Given the description of an element on the screen output the (x, y) to click on. 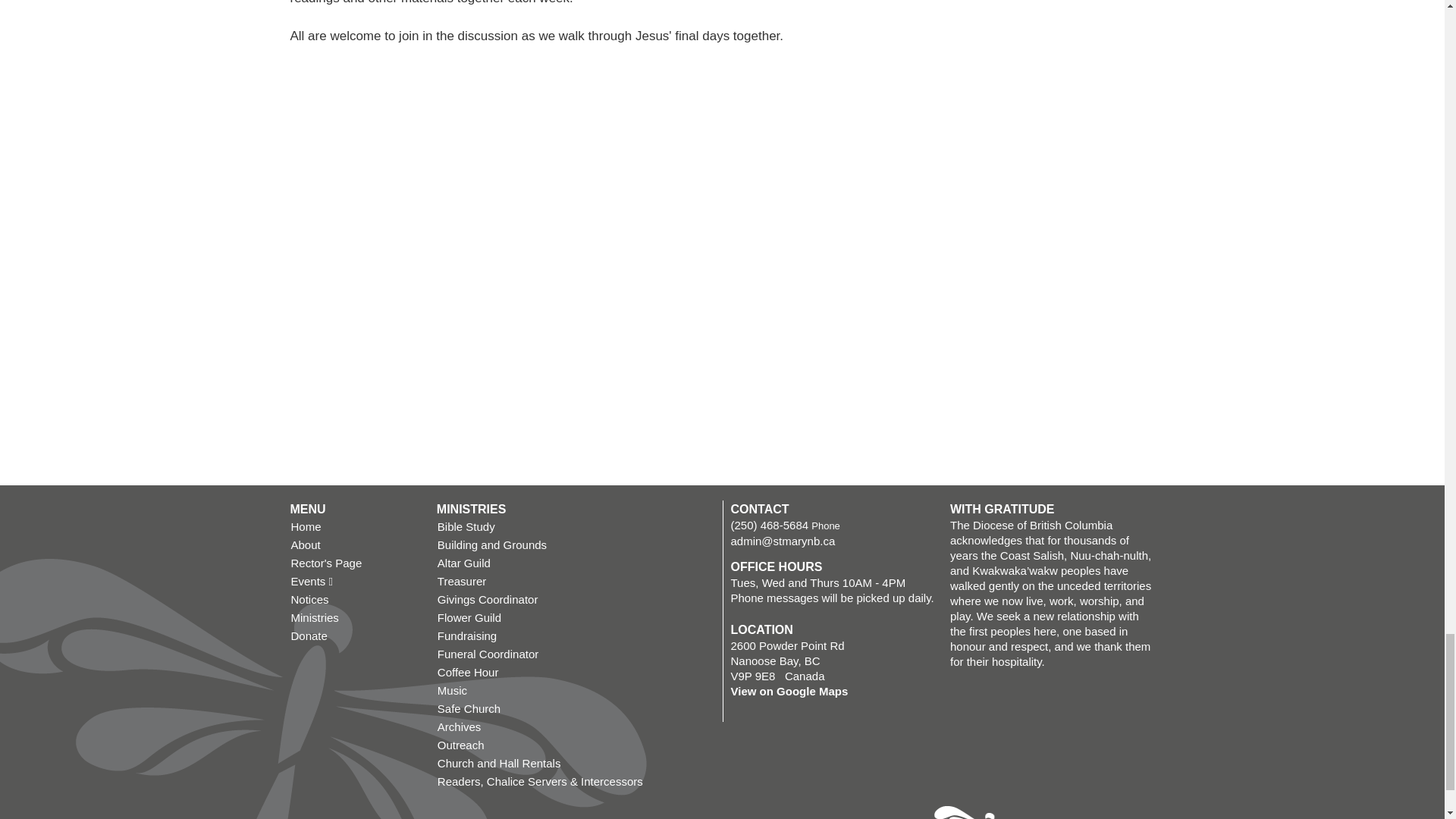
Ministries (354, 618)
Home (354, 526)
Events (354, 581)
About (354, 545)
MINISTRIES (471, 508)
Bible Study (575, 526)
Notices (354, 599)
Donate (354, 636)
Rector's Page (354, 563)
